Given the description of an element on the screen output the (x, y) to click on. 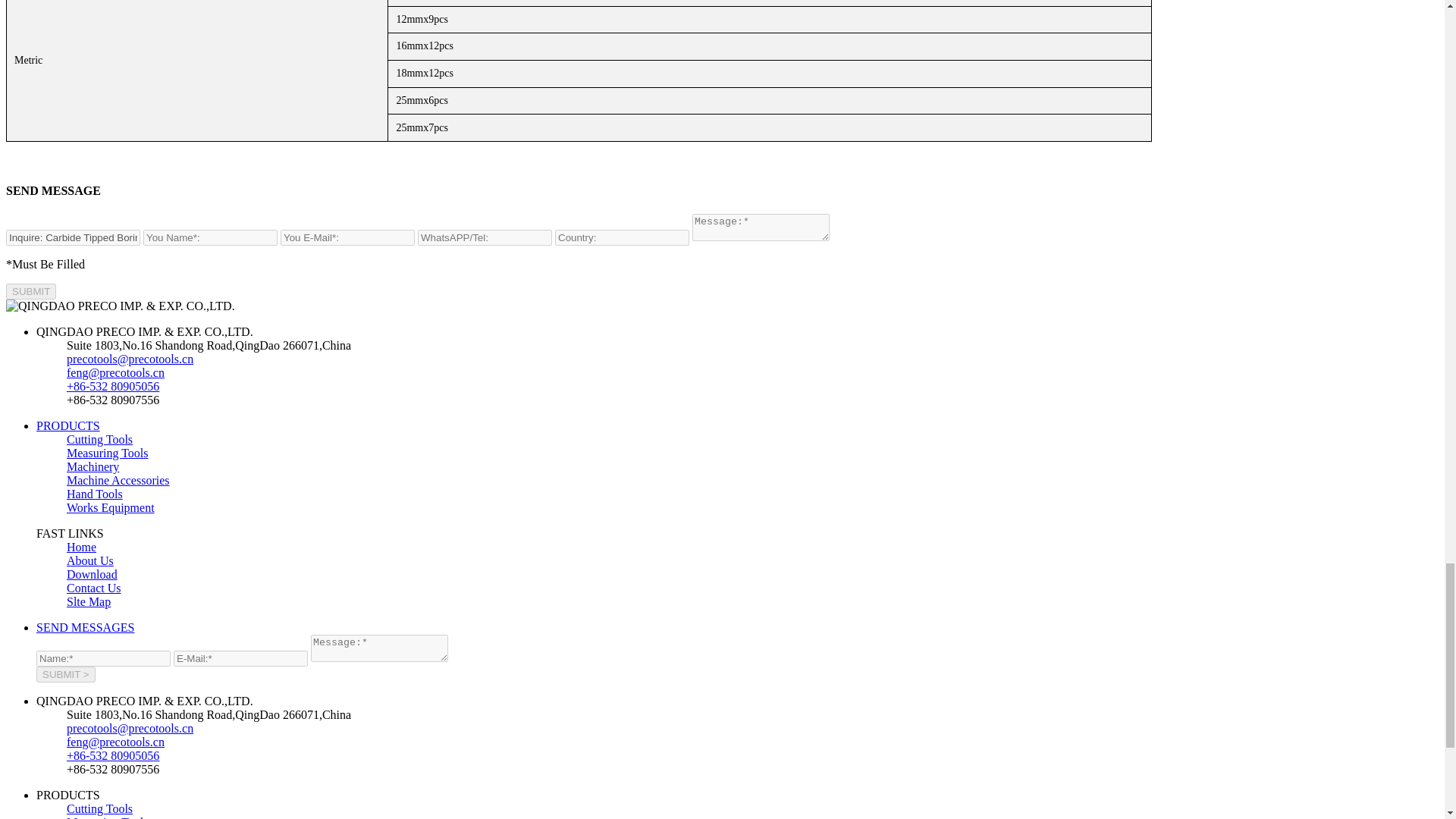
Inquire: Carbide Tipped Boring Bar Set (72, 237)
